Given the description of an element on the screen output the (x, y) to click on. 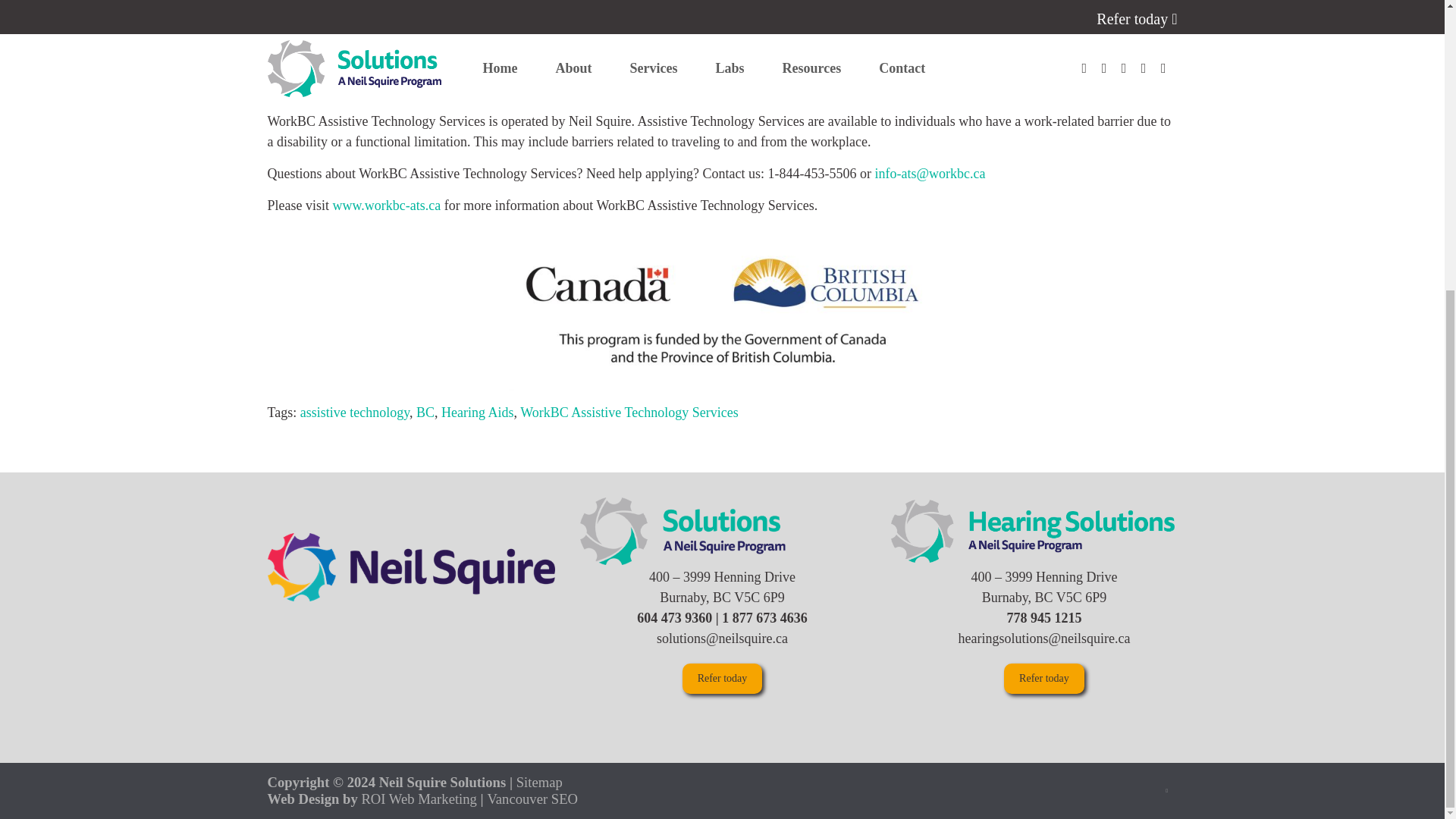
BC (424, 412)
www.workbc-ats.ca (386, 205)
assistive technology (354, 412)
Hearing Aids (477, 412)
WorkBC Assistive Technology Services (628, 412)
Refer today (722, 678)
Refer today (1044, 678)
